Given the description of an element on the screen output the (x, y) to click on. 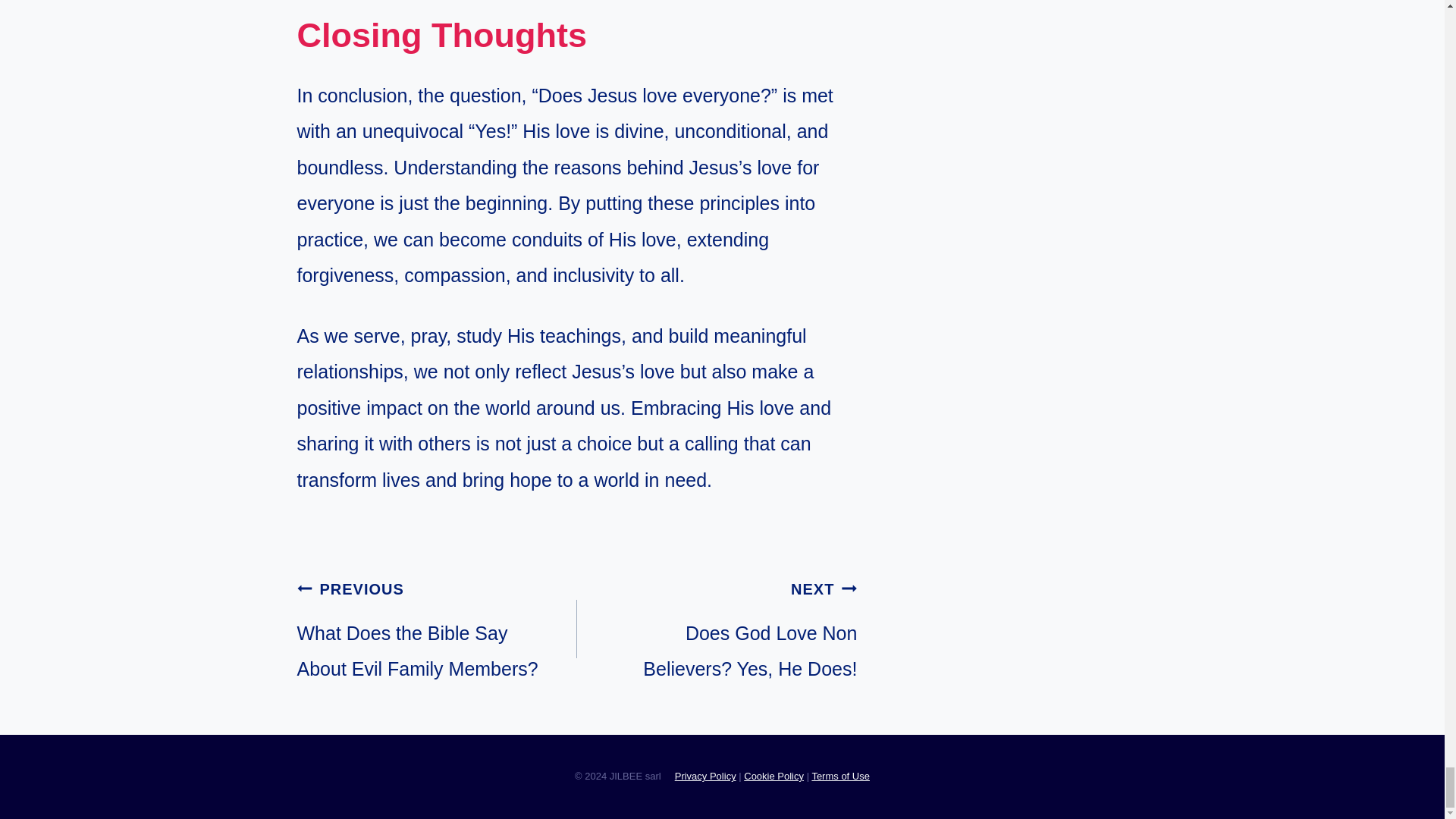
Privacy Policy (705, 776)
Cookie Policy (436, 628)
Terms of Use (773, 776)
